Given the description of an element on the screen output the (x, y) to click on. 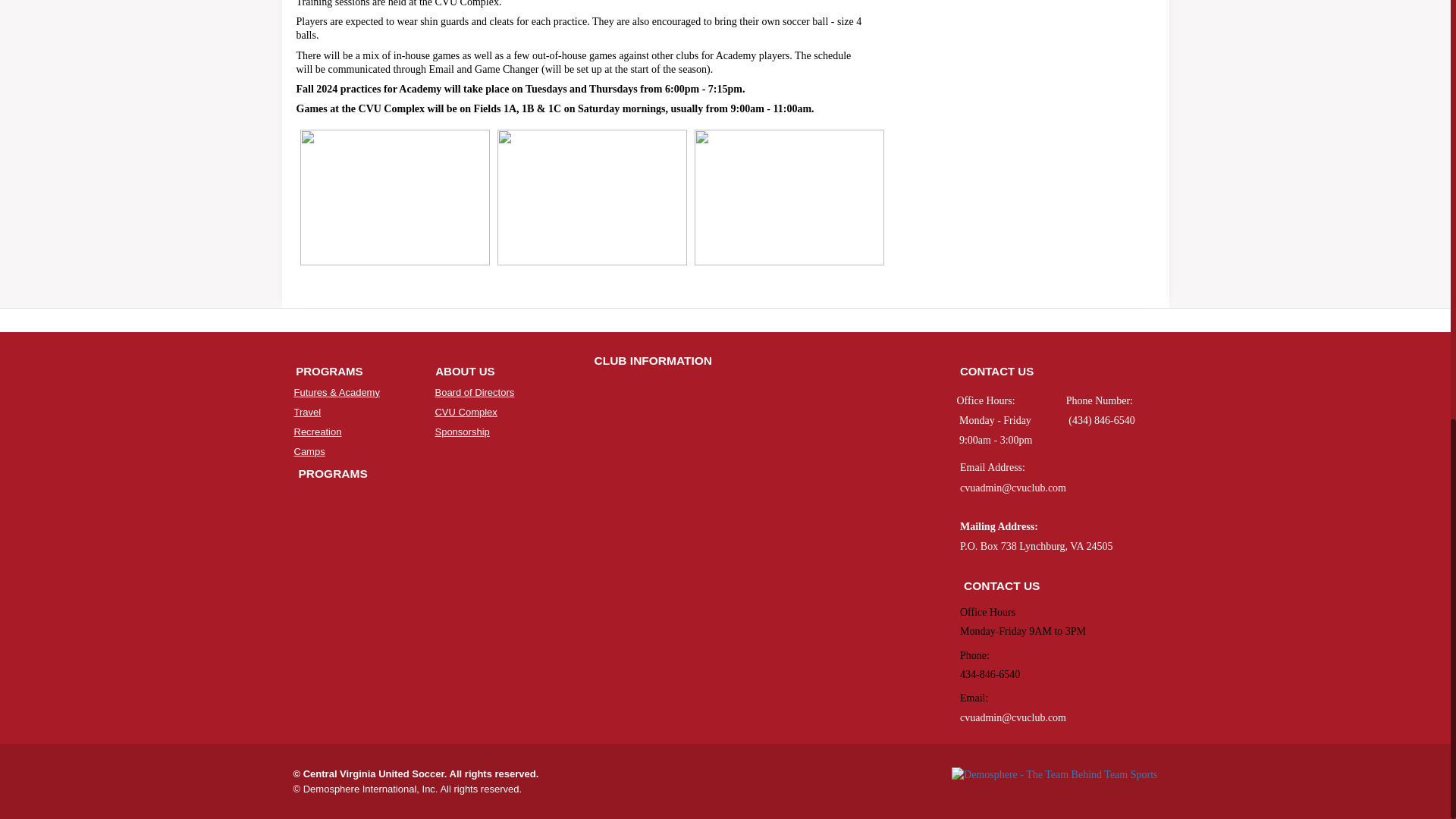
Camps (309, 451)
Board of Directors (473, 392)
Recreation (318, 431)
Travel (307, 411)
CVU Complex (464, 411)
Demosphere International, Inc. (370, 788)
Sponsorship (461, 431)
